Given the description of an element on the screen output the (x, y) to click on. 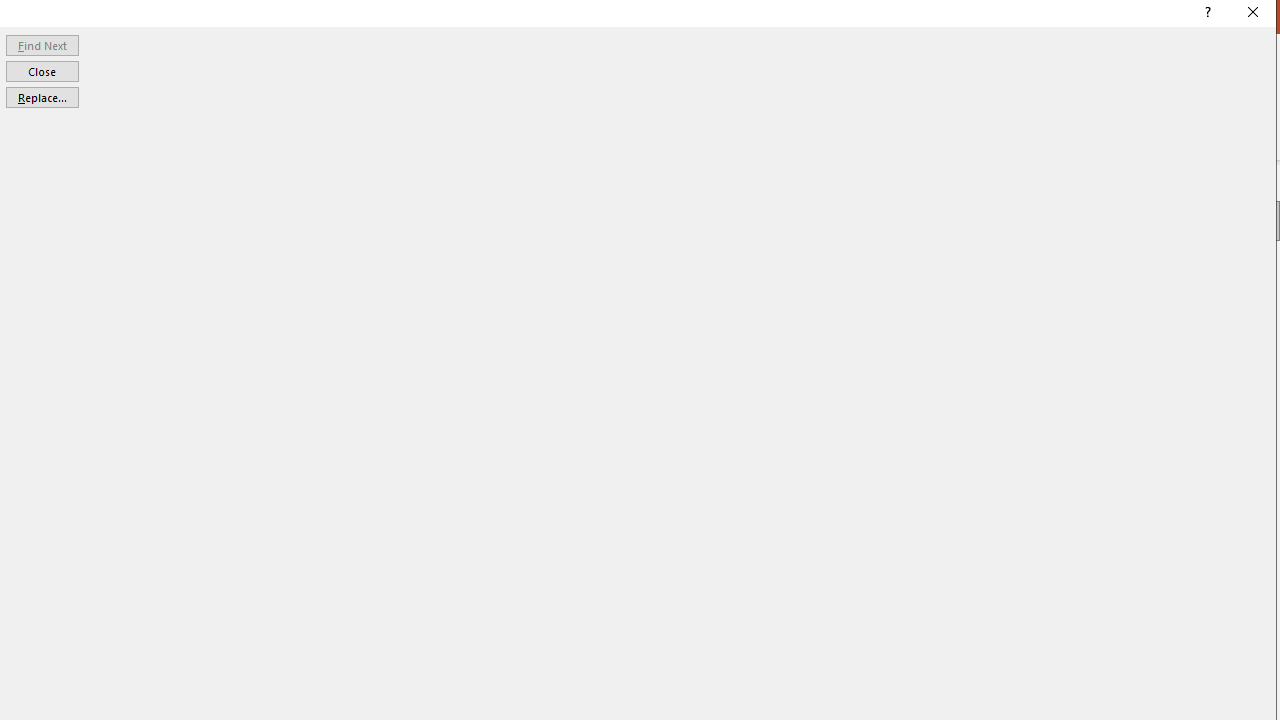
Context help (1206, 14)
Find Next (42, 44)
